Given the description of an element on the screen output the (x, y) to click on. 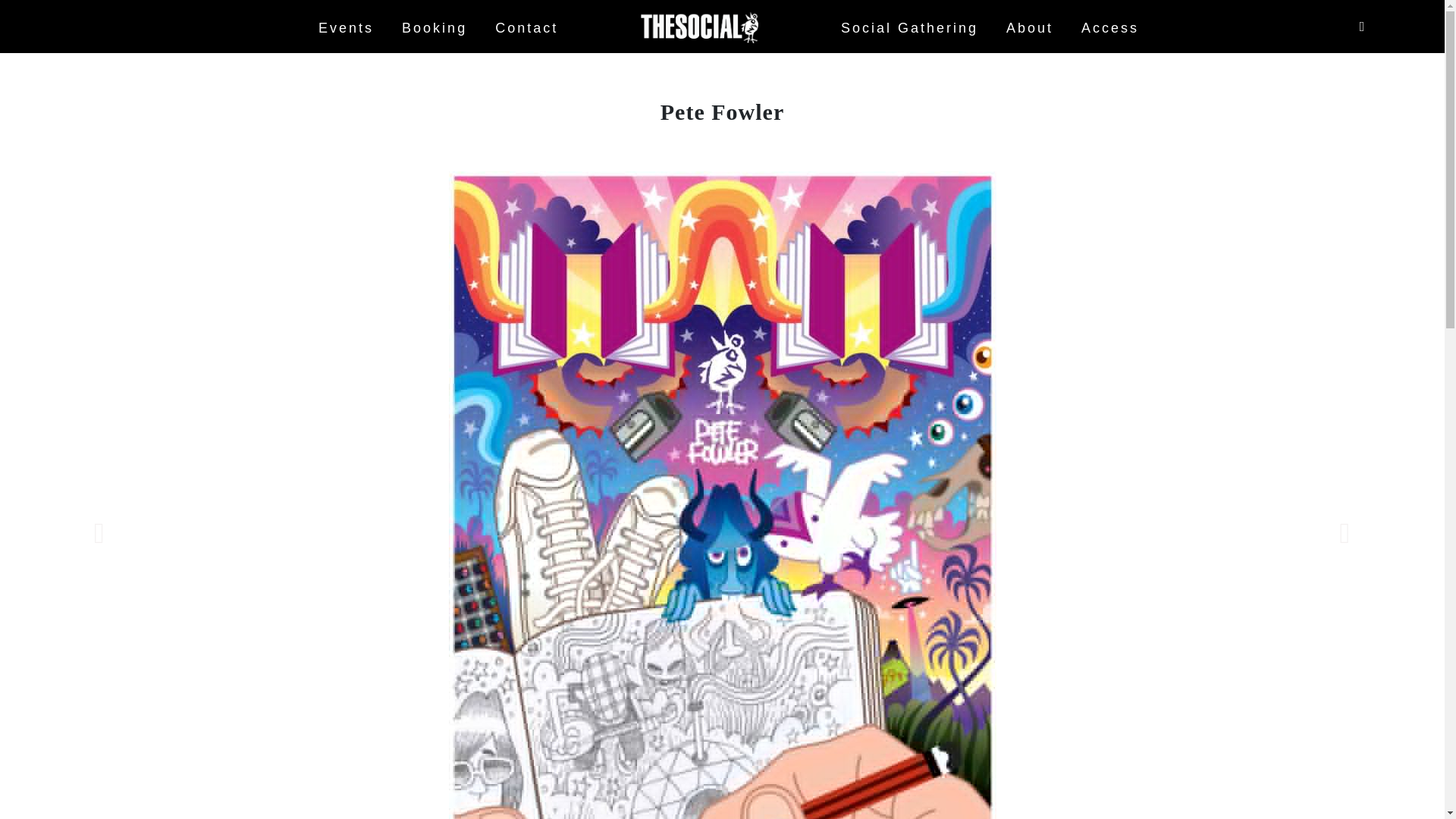
Booking (434, 28)
Access (1109, 28)
Events (346, 28)
About (1029, 28)
Contact (526, 28)
Social Gathering (909, 28)
